Given the description of an element on the screen output the (x, y) to click on. 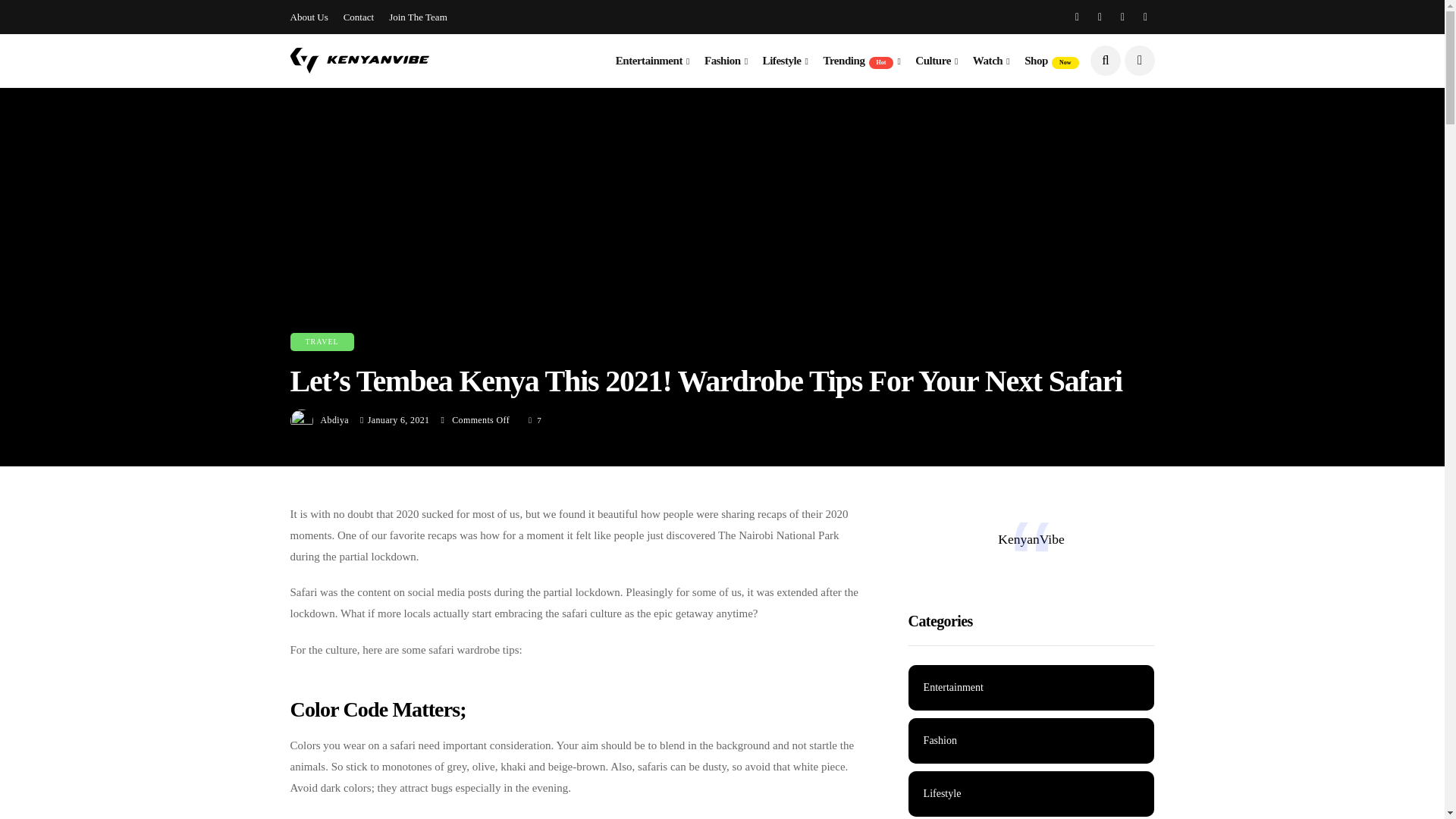
Join The Team (417, 17)
About Us (308, 17)
Entertainment (651, 60)
TrendingHot (860, 60)
